Given the description of an element on the screen output the (x, y) to click on. 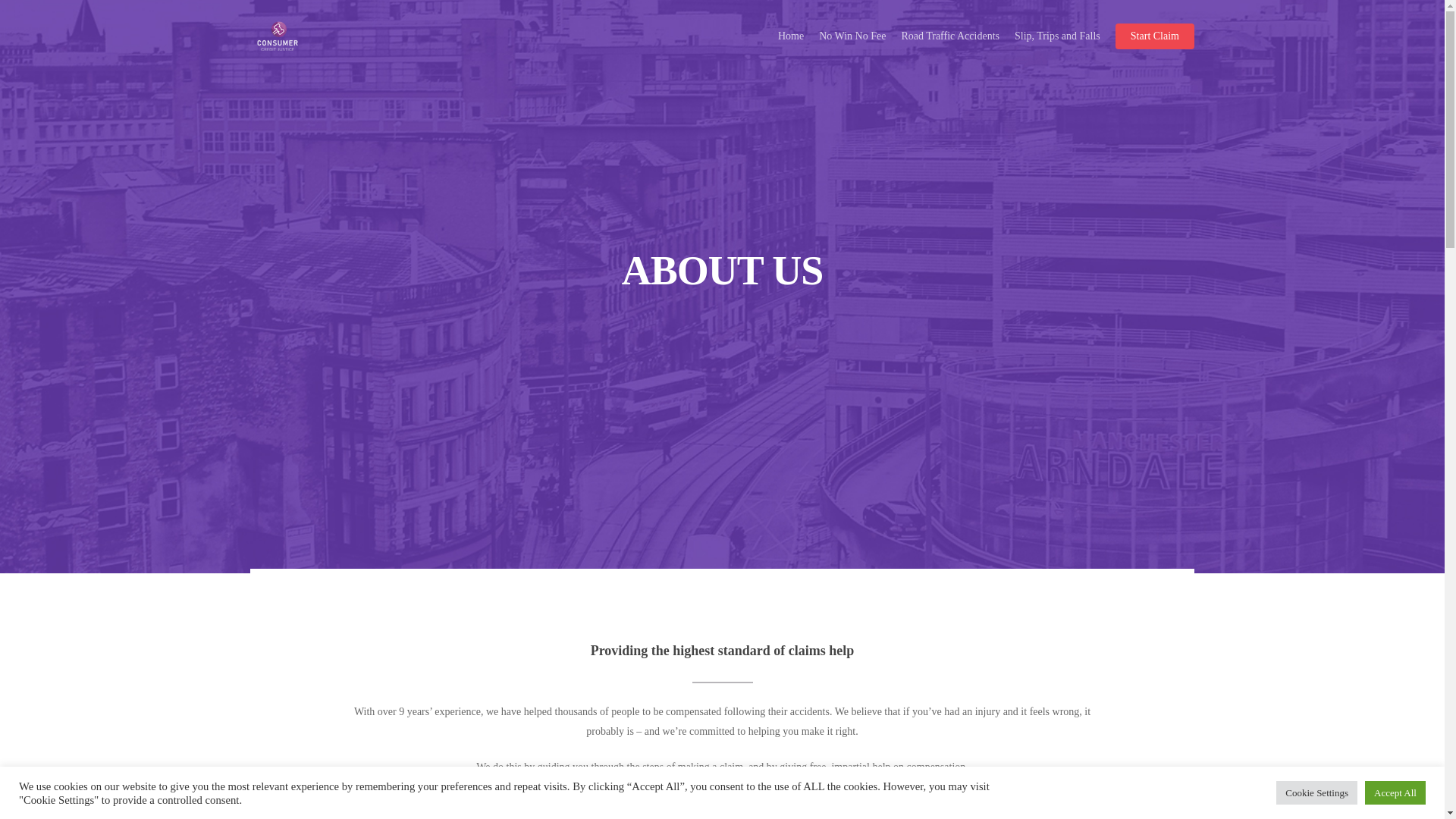
Cookie Settings (1316, 792)
Privacy Policy (400, 624)
Accept All (1395, 792)
Start Claim (1154, 36)
No Win No Fee (851, 36)
Road Traffic Accidents (949, 36)
Website Builder (428, 794)
Home (790, 36)
Complaints (400, 598)
About us (400, 547)
Road Traffic Accidents (721, 573)
Slip, Trips and Falls (1057, 36)
Disclaimer (400, 573)
Slip, Trips and Falls (721, 547)
Cookie Policy (400, 676)
